Given the description of an element on the screen output the (x, y) to click on. 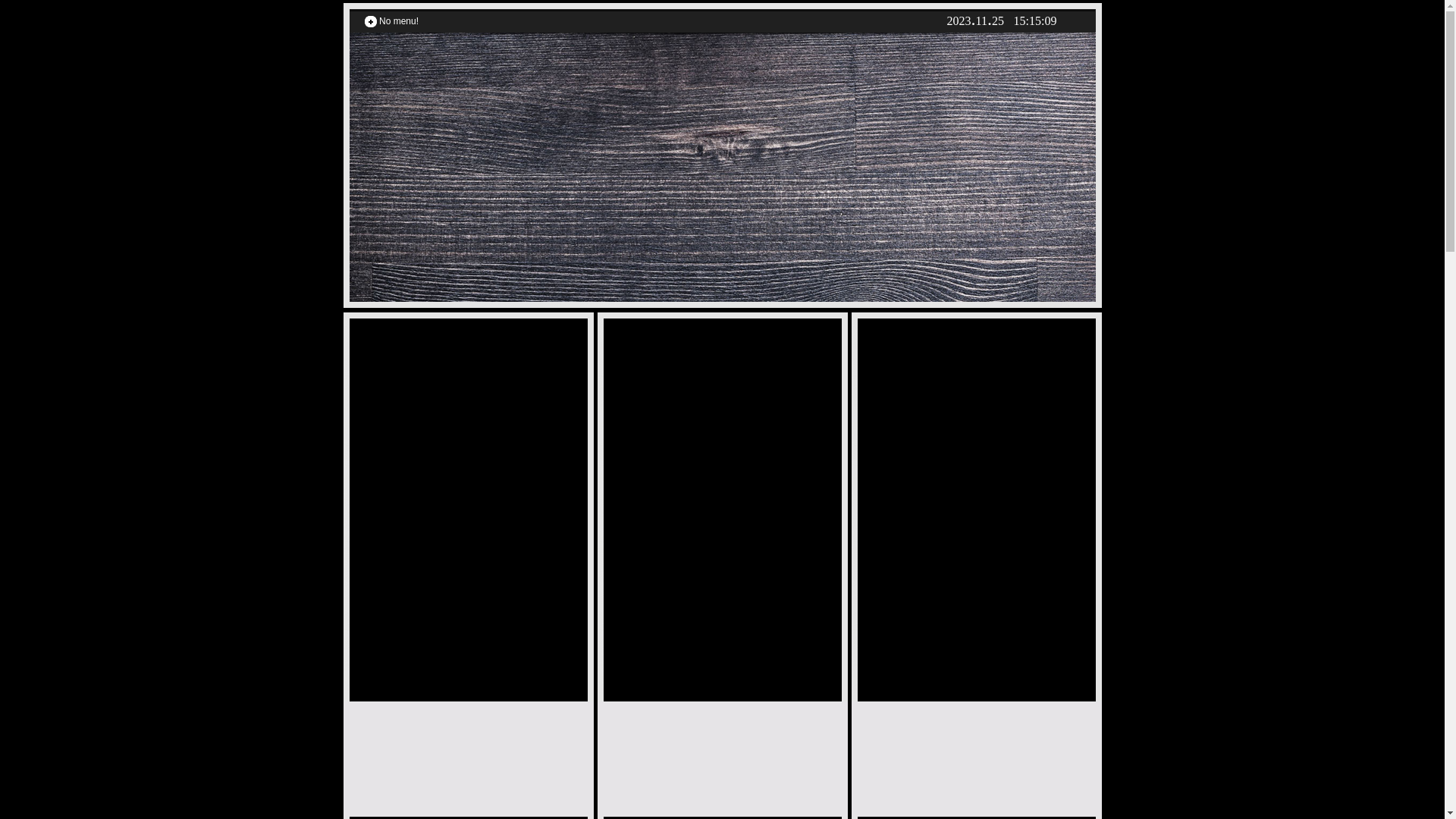
No menu! Element type: text (398, 20)
